Given the description of an element on the screen output the (x, y) to click on. 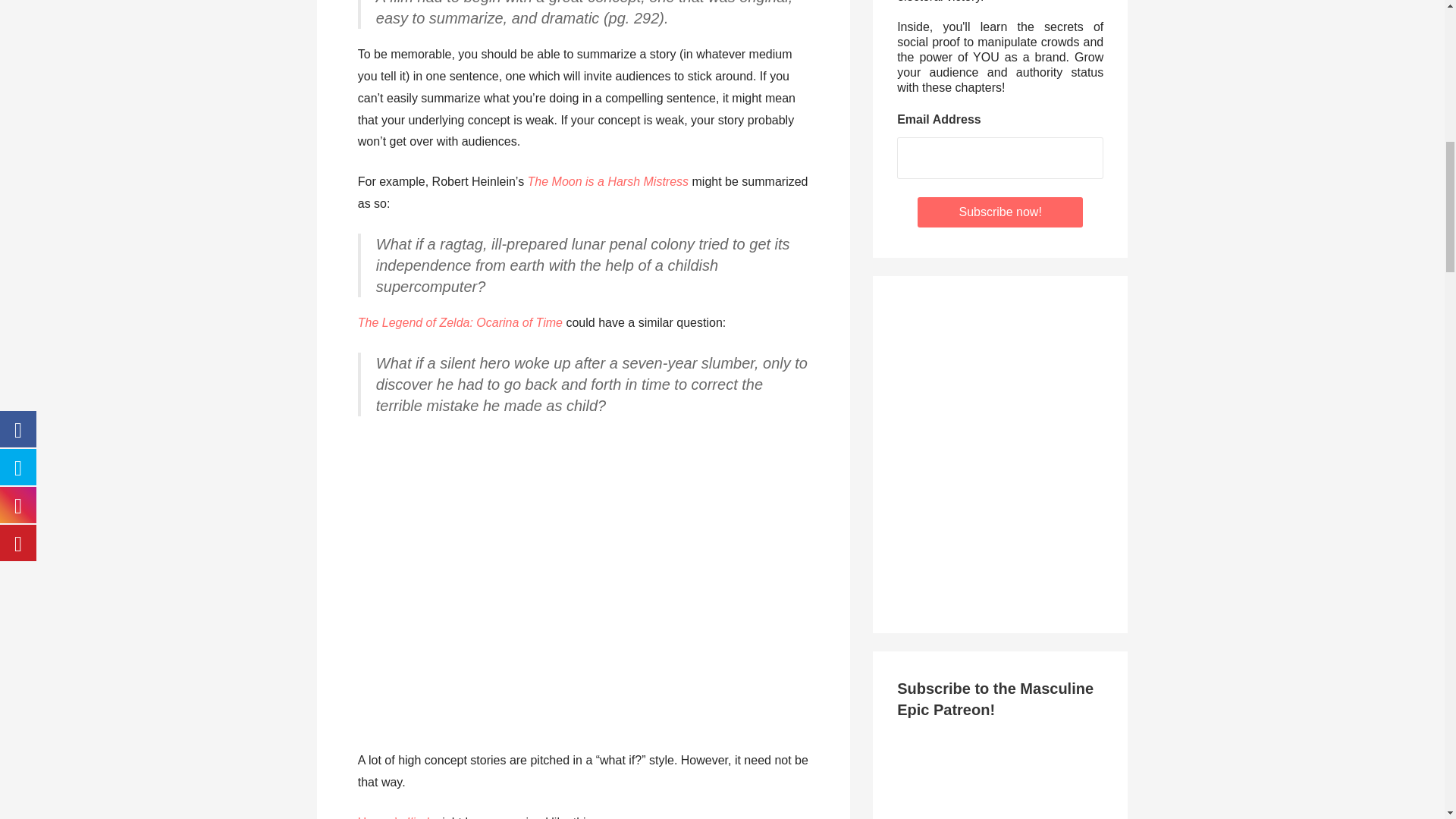
Subscribe now! (1000, 212)
The Moon is a Harsh Mistress (607, 181)
The Legend of Zelda: Ocarina of Time (460, 322)
The Moon is a Harsh Mistress: Review (607, 181)
